Given the description of an element on the screen output the (x, y) to click on. 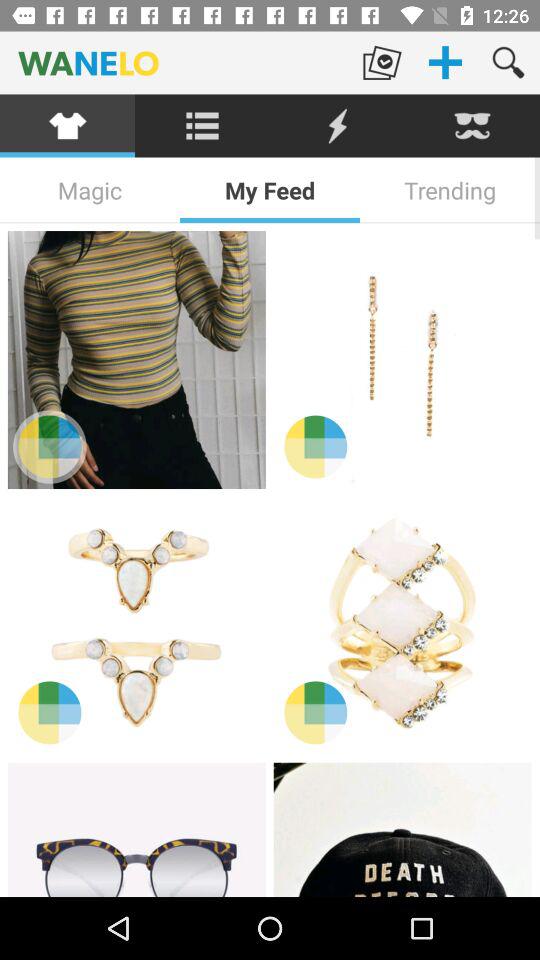
turn on icon below wanelo icon (202, 125)
